Given the description of an element on the screen output the (x, y) to click on. 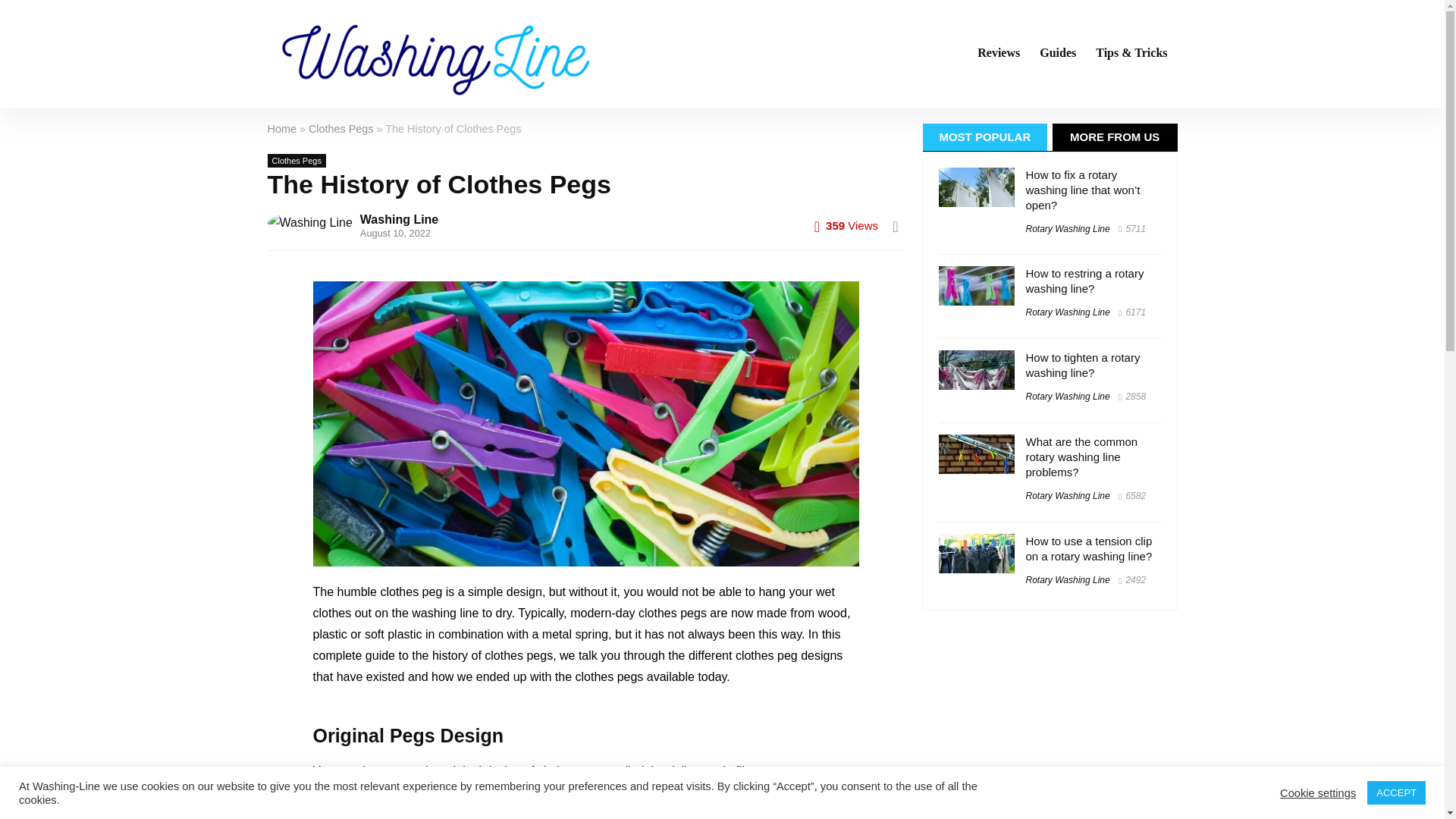
Reviews (998, 53)
ACCEPT (1396, 792)
Cookie settings (1317, 792)
Home (280, 128)
How to restring a rotary washing line? (1083, 280)
Clothes Pegs (341, 128)
What are the common rotary washing line problems? (1081, 456)
How to tighten a rotary washing line? (1082, 365)
Washing Line (398, 218)
View all posts in Clothes Pegs (295, 160)
